Given the description of an element on the screen output the (x, y) to click on. 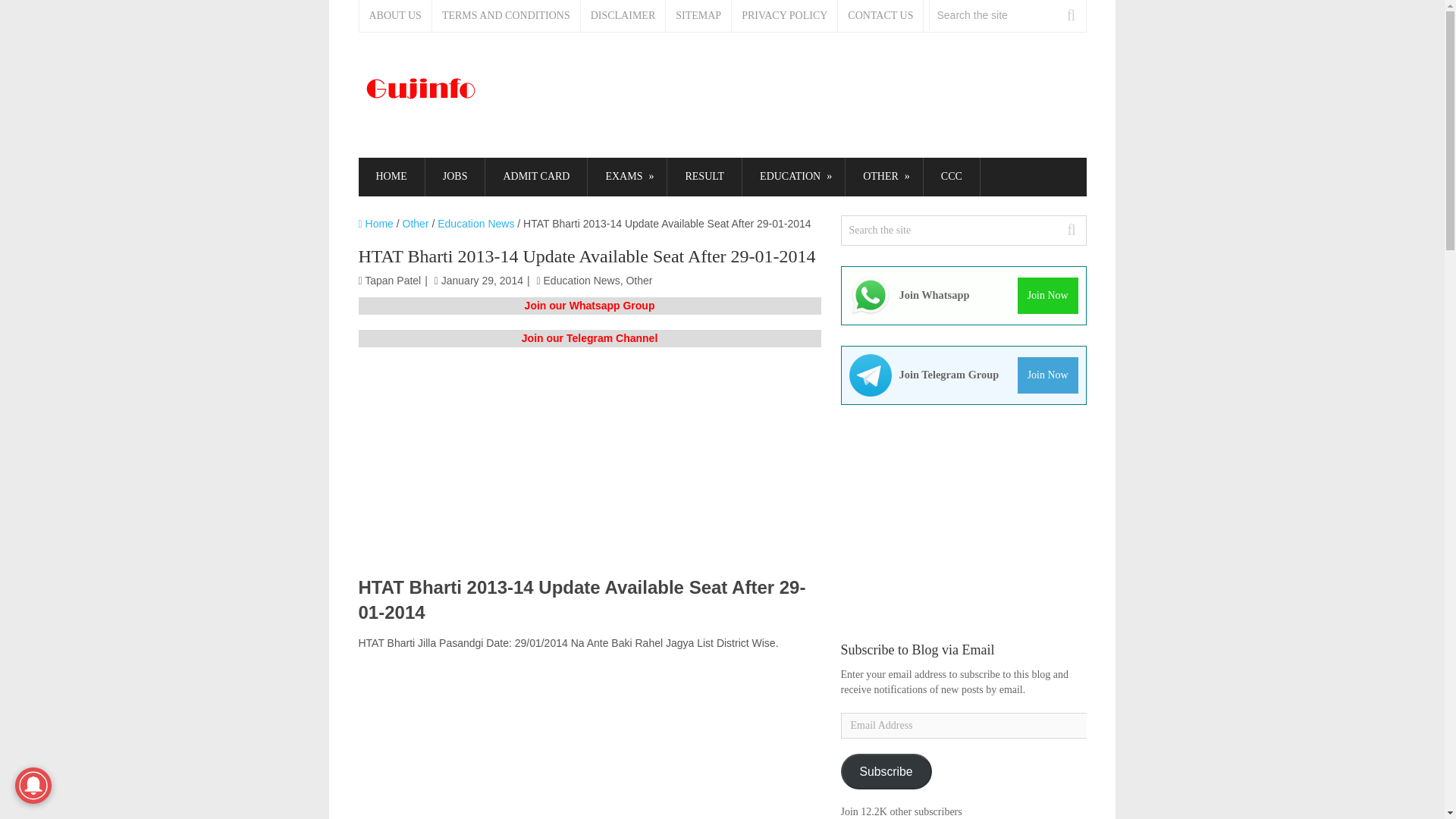
OTHER (884, 177)
DISCLAIMER (623, 15)
TERMS AND CONDITIONS (506, 15)
View all posts in Education News (581, 280)
JOBS (454, 177)
EXAMS (627, 177)
CCC (951, 177)
HOME (390, 177)
RESULT (703, 177)
Posts by Tapan Patel (392, 280)
View all posts in Other (639, 280)
EDUCATION (793, 177)
PRIVACY POLICY (785, 15)
Advertisement (589, 468)
ABOUT US (395, 15)
